Given the description of an element on the screen output the (x, y) to click on. 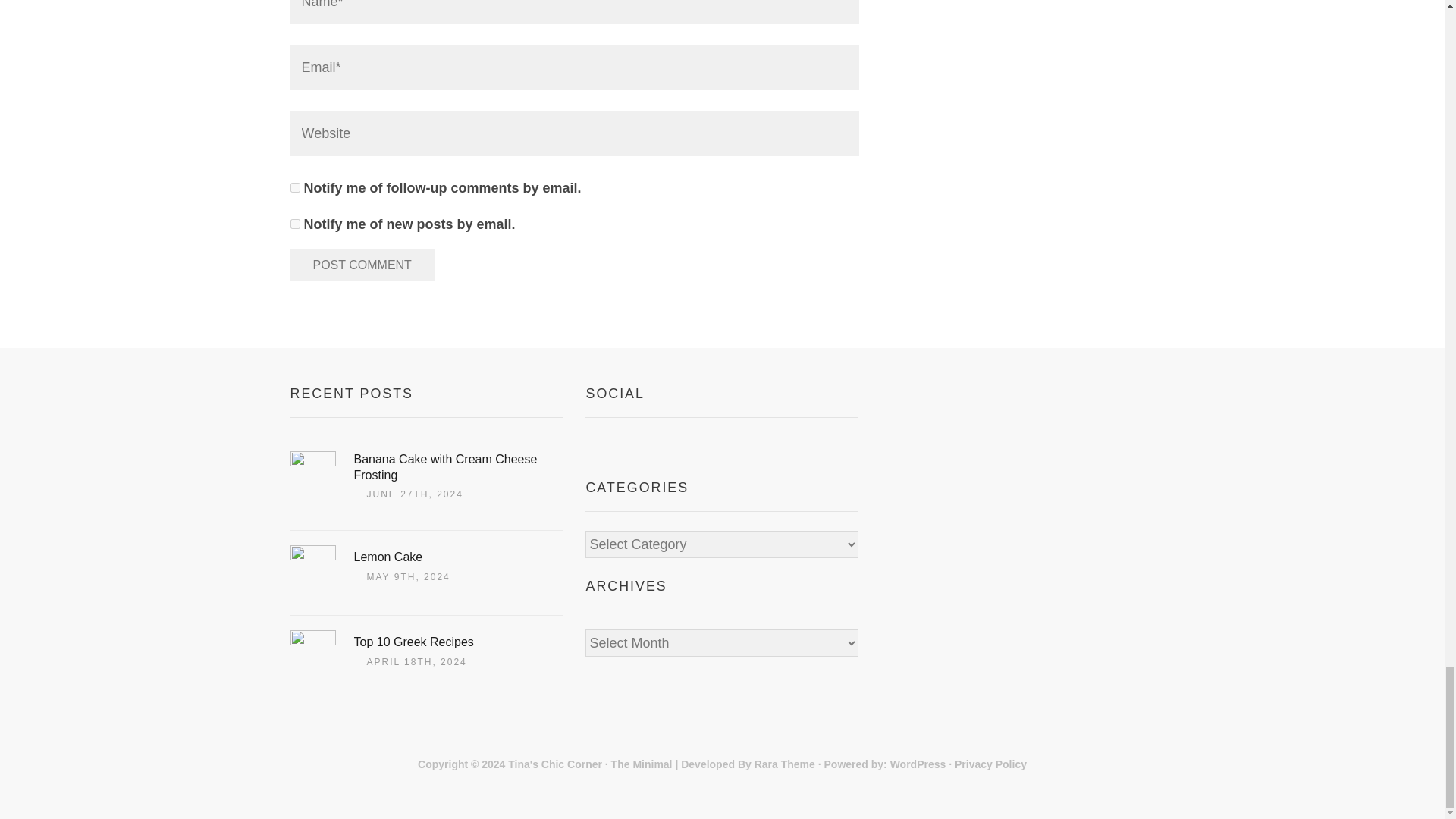
subscribe (294, 224)
Post Comment (361, 265)
subscribe (294, 187)
